Given the description of an element on the screen output the (x, y) to click on. 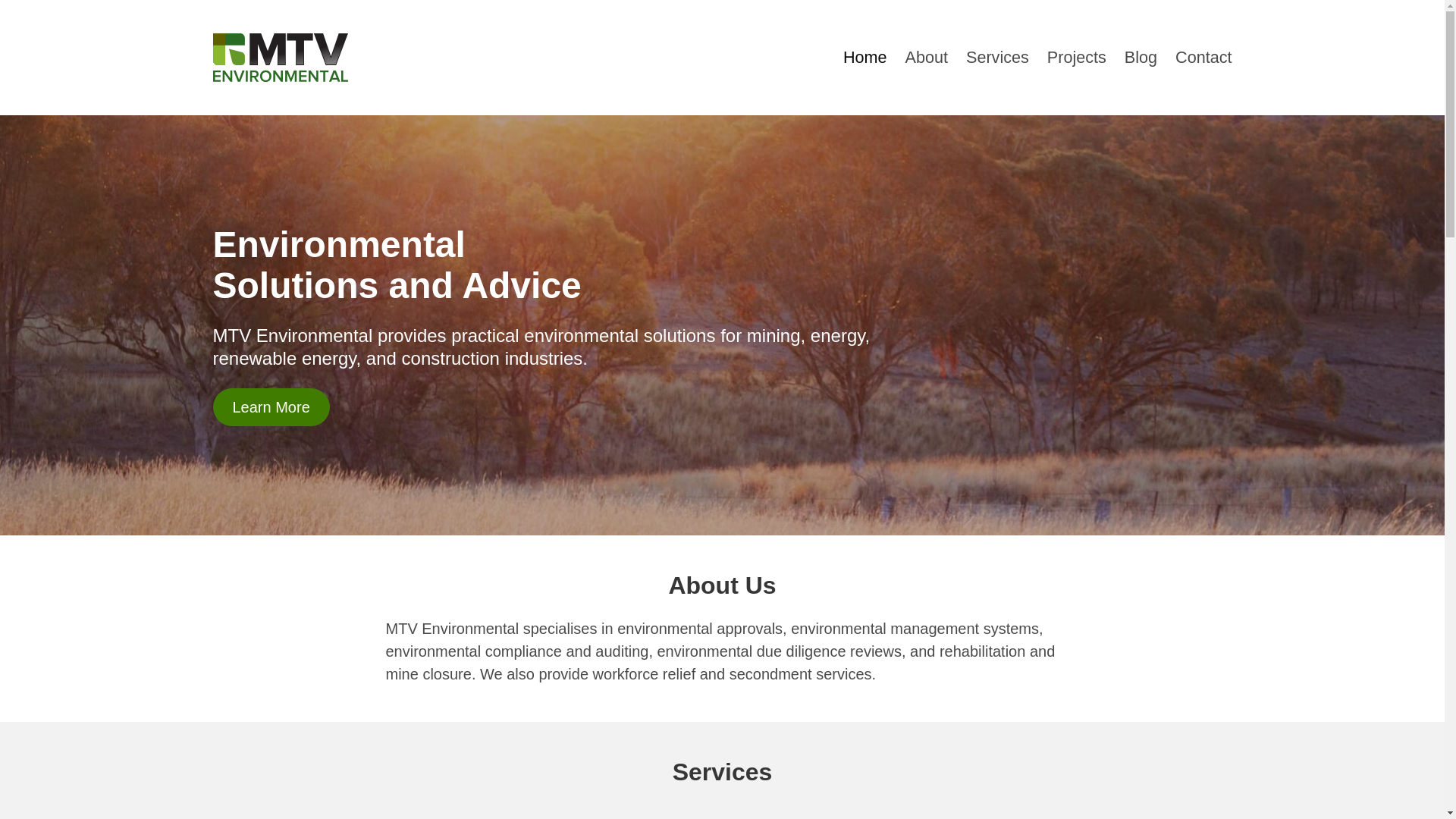
Contact Element type: text (1203, 57)
Blog Element type: text (1140, 57)
About Element type: text (926, 57)
Projects Element type: text (1076, 57)
Learn More Element type: text (270, 407)
Home Element type: text (865, 57)
Services Element type: text (997, 57)
